Given the description of an element on the screen output the (x, y) to click on. 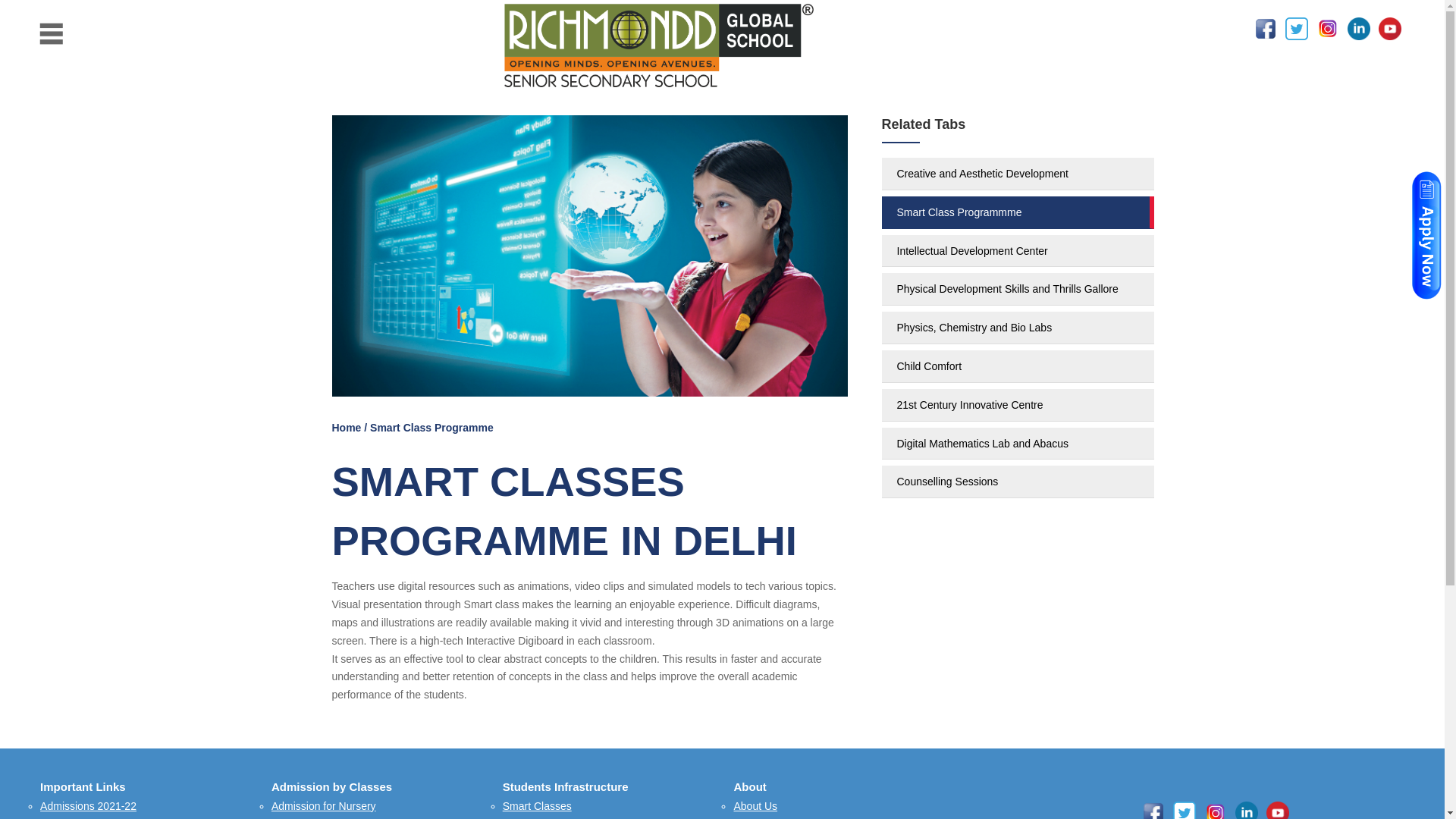
Richmondd Global School logo (658, 45)
Instagram id logo (1327, 28)
Twitter page logo (1296, 28)
LinkedIn id logo (1359, 28)
Twitter page logo (1184, 810)
YouTube Channel Logo (1277, 810)
Facebook page logo (1152, 810)
Facebook page logo (1264, 28)
YouTube Channel Logo (1389, 28)
LinkedIn id logo (1245, 810)
Instagram id logo (1215, 810)
